Given the description of an element on the screen output the (x, y) to click on. 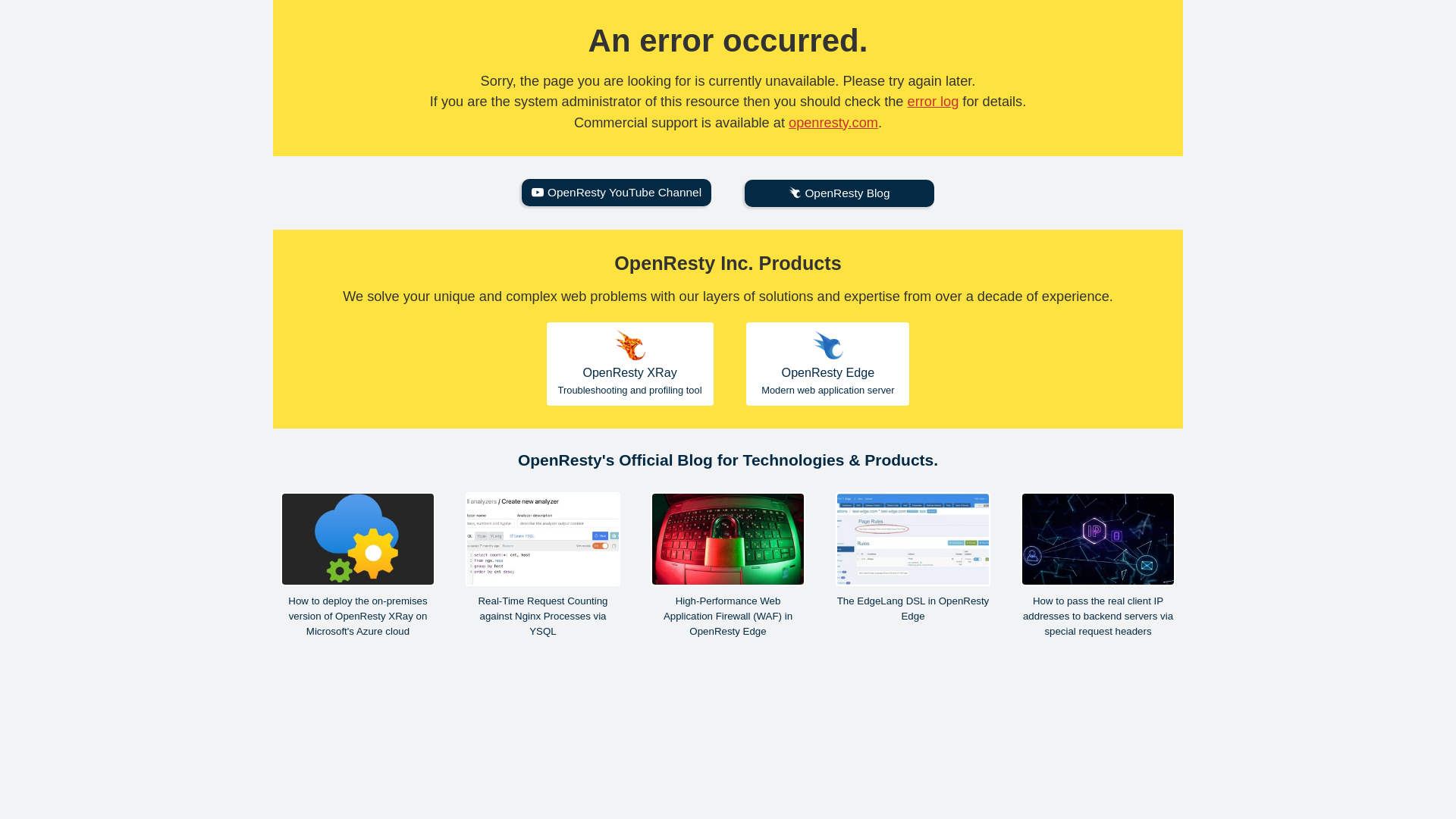
error log (933, 101)
Real-Time Request Counting against Nginx Processes via YSQL (542, 565)
OpenResty YouTube Channel (616, 192)
OpenResty Blog (630, 363)
The EdgeLang DSL in OpenResty Edge (839, 193)
openresty.com (826, 363)
